Given the description of an element on the screen output the (x, y) to click on. 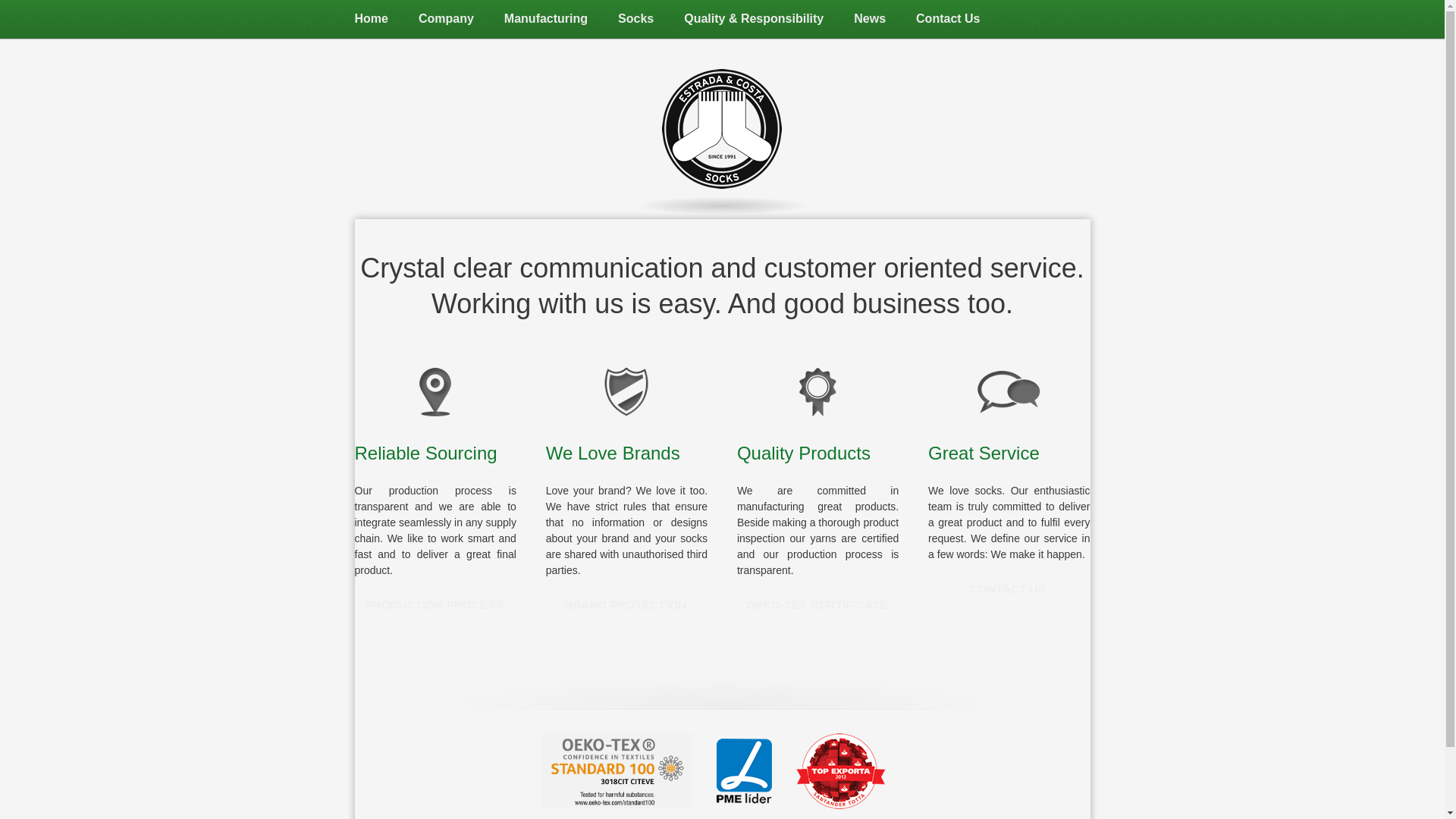
Socks (635, 18)
PRODUCTION PROCESS (434, 606)
Home (371, 18)
CONTACT US (1007, 590)
News (869, 18)
Contact Us (947, 18)
BRAND PROTECTION (625, 606)
OEKO-TEX CERTIFICATE (816, 606)
Manufacturing (545, 18)
Company (446, 18)
